Given the description of an element on the screen output the (x, y) to click on. 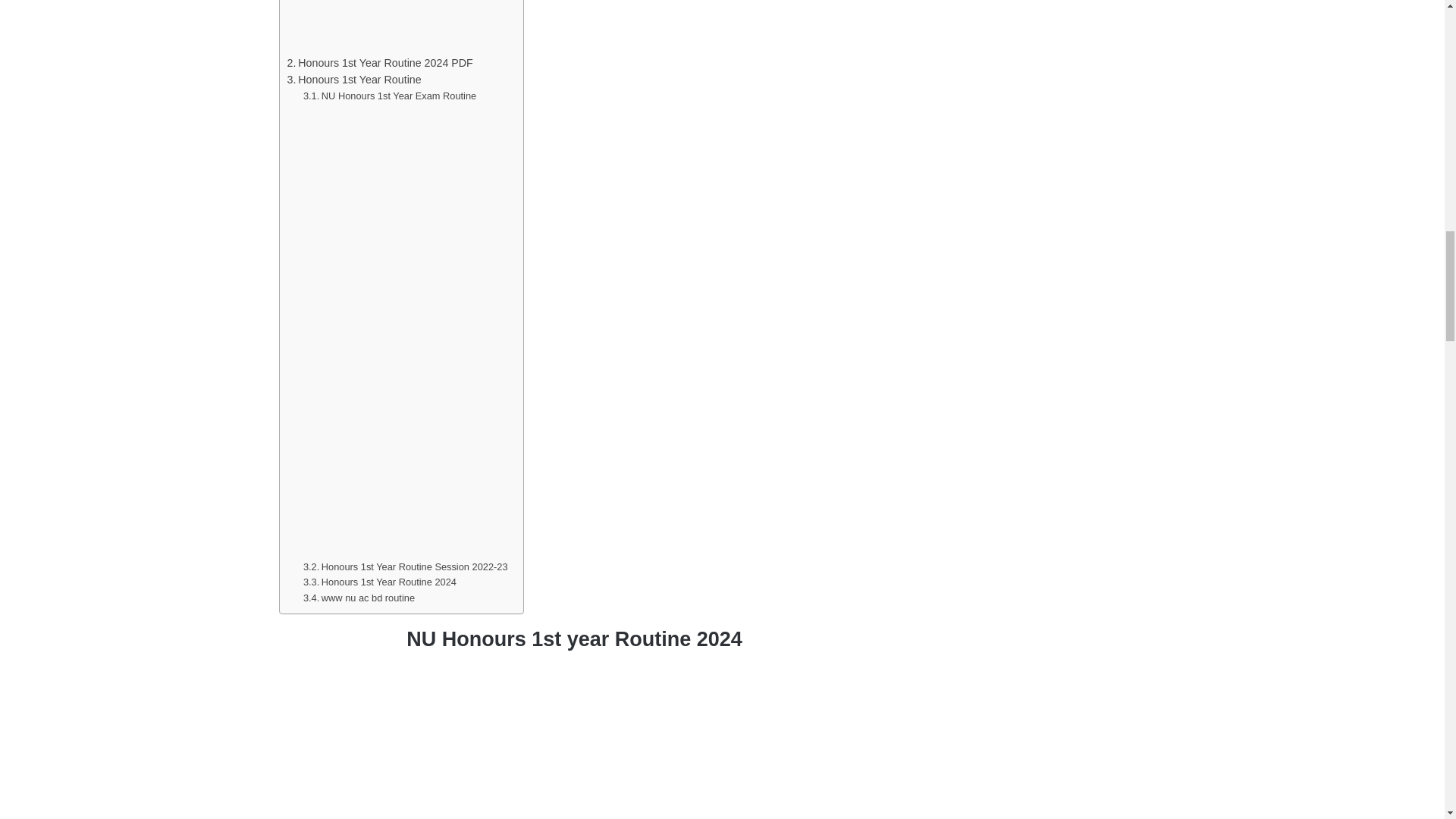
NU Honours 1st Year Exam Routine (389, 96)
Advertisement (397, 27)
Honours 1st Year Routine 2024 (379, 582)
www nu ac bd routine (358, 598)
Advertisement (574, 742)
Honours 1st Year Routine (353, 79)
Honours 1st Year Routine Session 2022-23 (405, 567)
Honours 1st Year Routine 2024 (379, 582)
www nu ac bd routine (358, 598)
NU Honours 1st Year Exam Routine (389, 96)
Honours 1st Year Routine Session 2022-23 (405, 567)
Honours 1st Year Routine 2024 PDF (378, 63)
Honours 1st Year Routine (353, 79)
Honours 1st Year Routine 2024 PDF (378, 63)
